Given the description of an element on the screen output the (x, y) to click on. 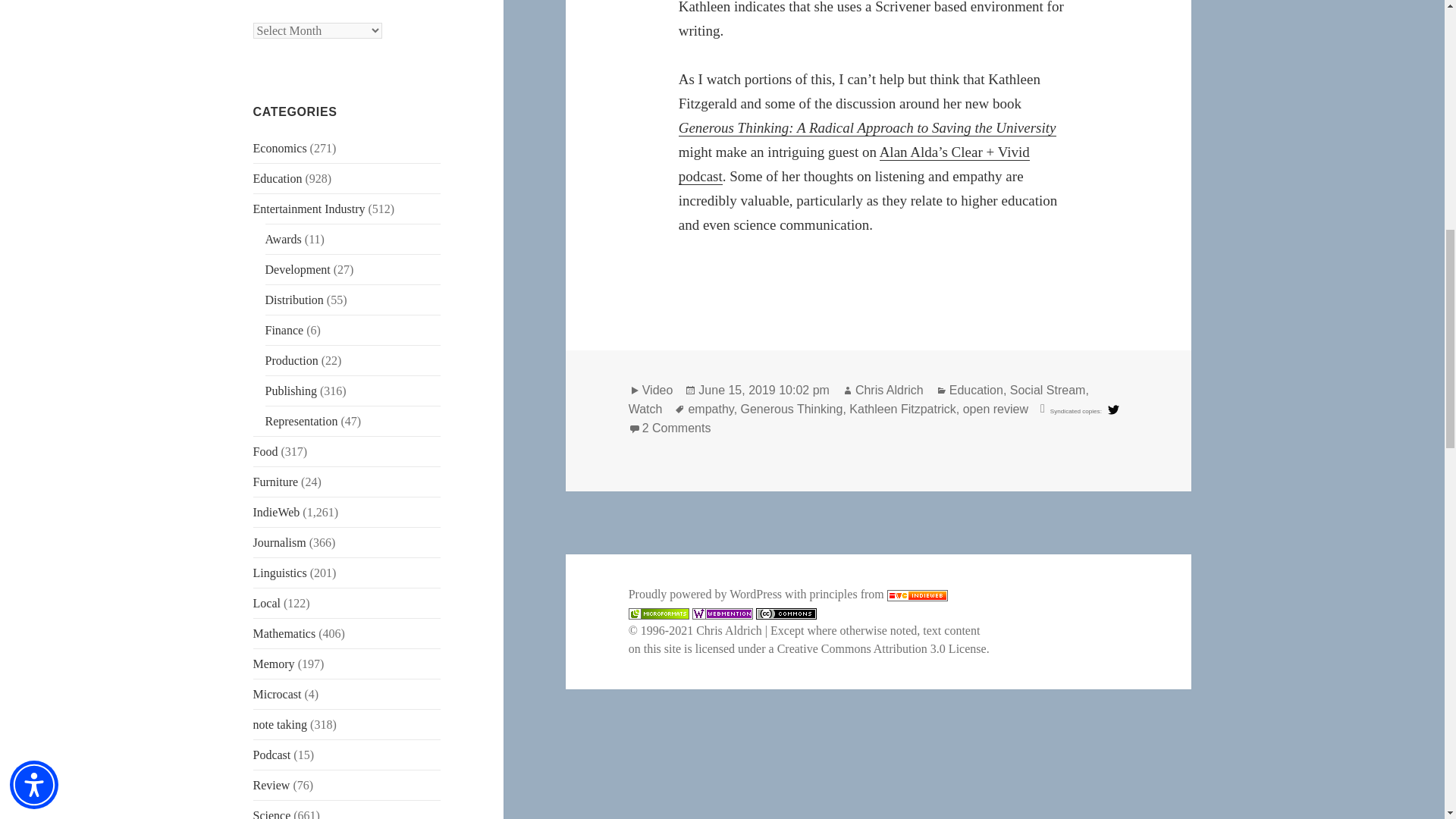
Twitter (1113, 409)
